Given the description of an element on the screen output the (x, y) to click on. 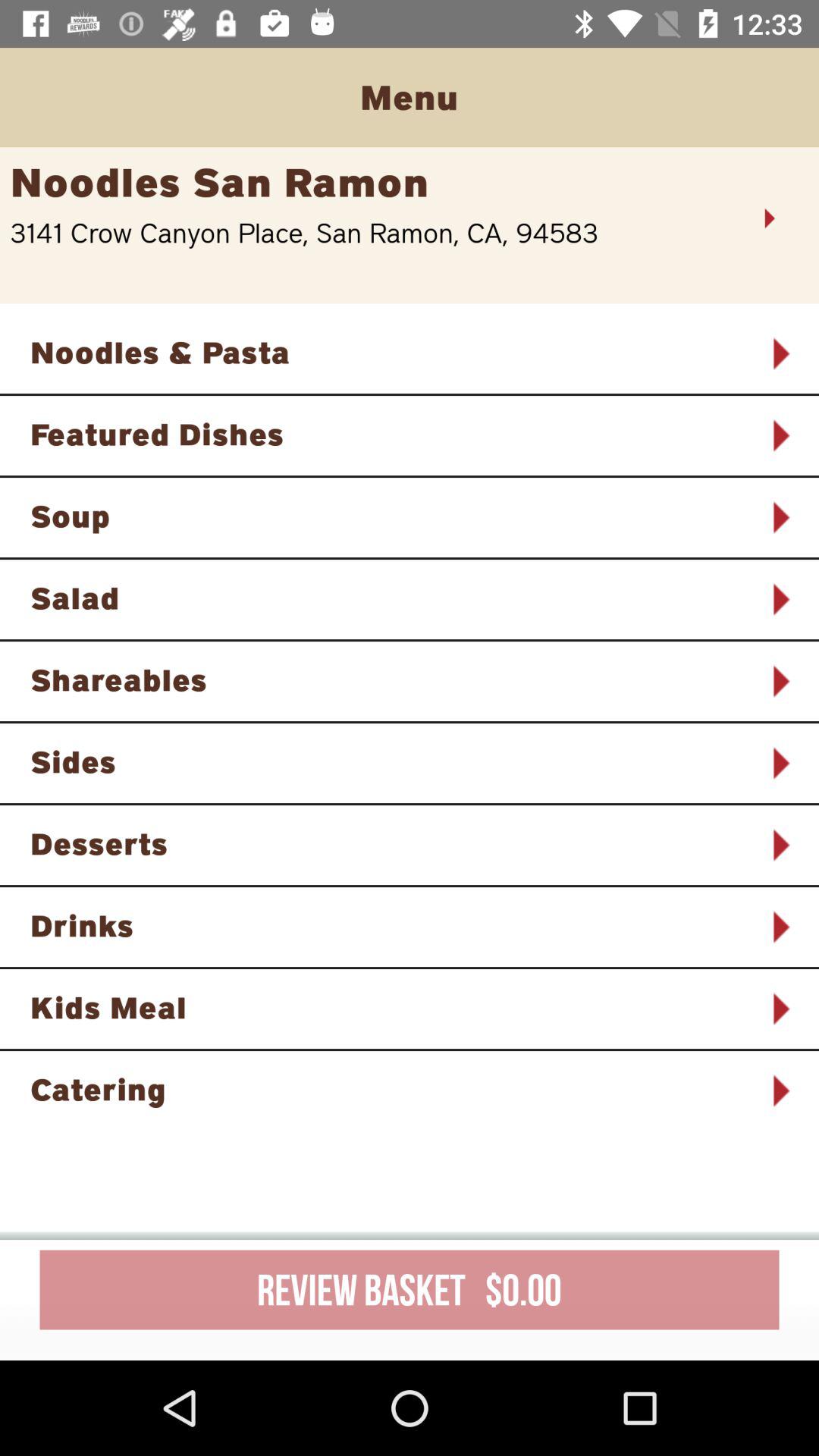
launch item next to shareables (779, 681)
